Given the description of an element on the screen output the (x, y) to click on. 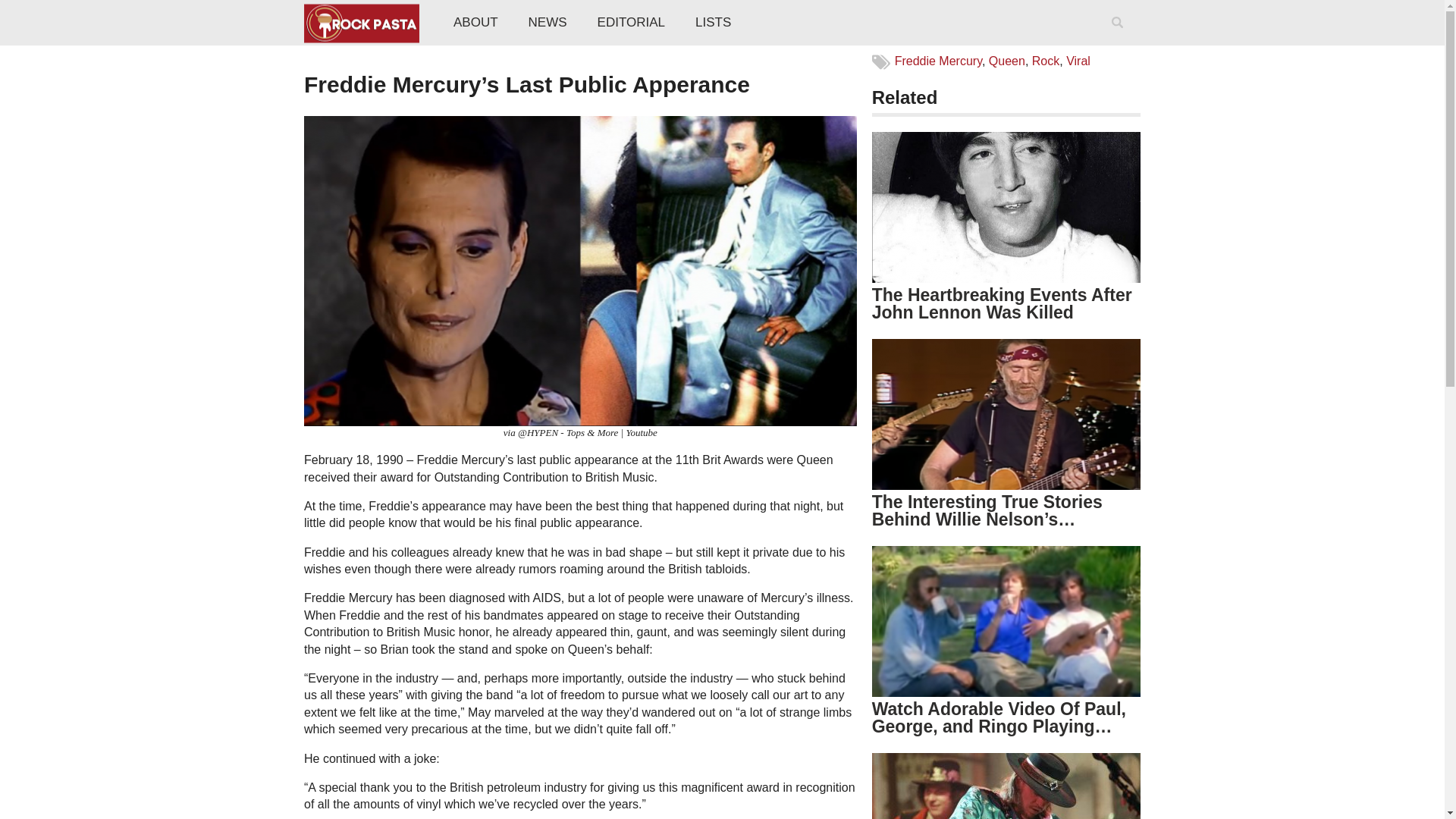
Viral (1077, 60)
Search (1120, 42)
Freddie Mercury (938, 60)
LISTS (712, 22)
Search (1120, 42)
ABOUT (475, 22)
NEWS (547, 22)
Queen (1006, 60)
Rock (1045, 60)
EDITORIAL (630, 22)
Search (1120, 42)
The Heartbreaking Events After John Lennon Was Killed (1002, 303)
